Given the description of an element on the screen output the (x, y) to click on. 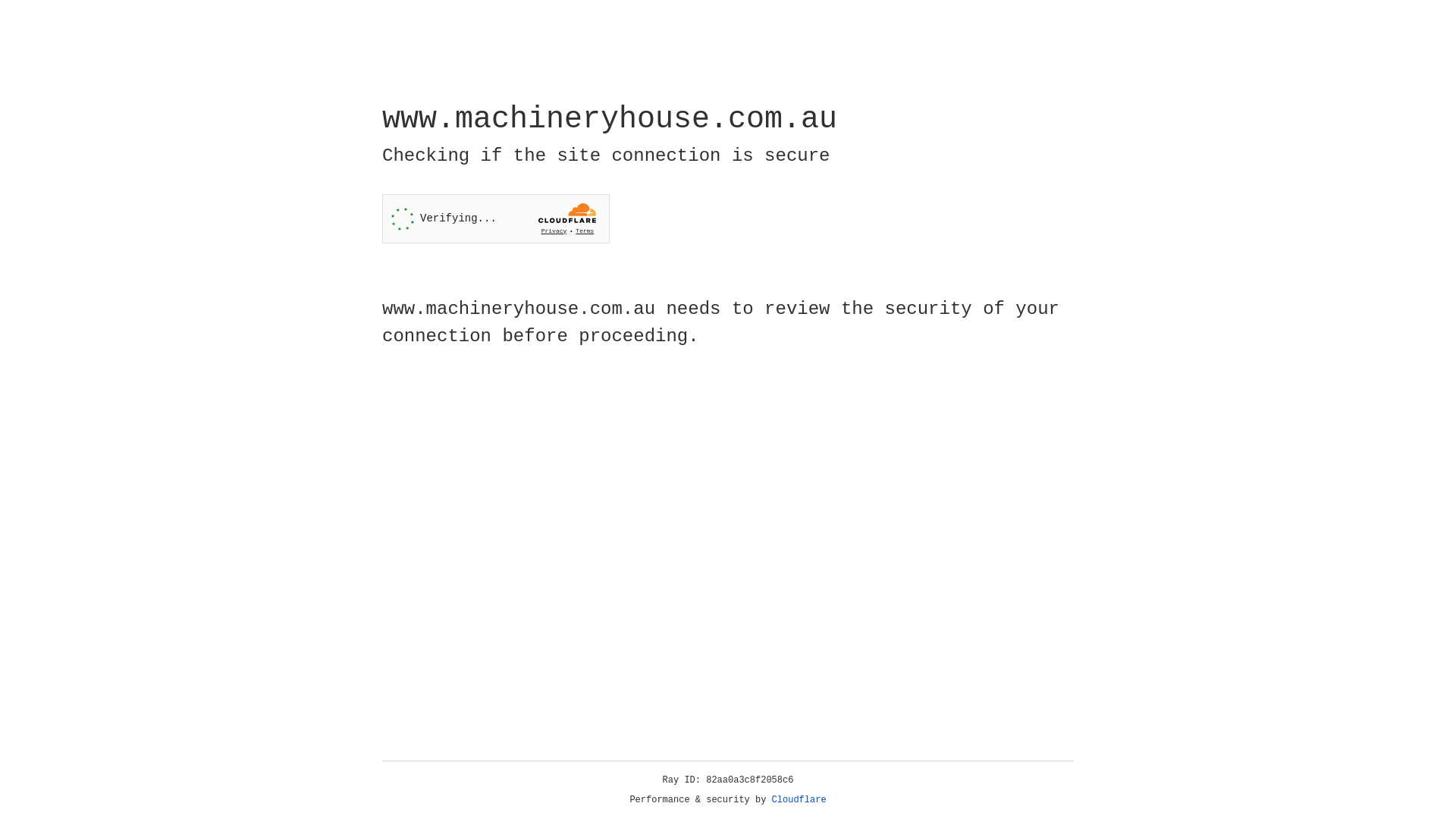
Cloudflare Element type: text (798, 799)
Widget containing a Cloudflare security challenge Element type: hover (495, 218)
